Given the description of an element on the screen output the (x, y) to click on. 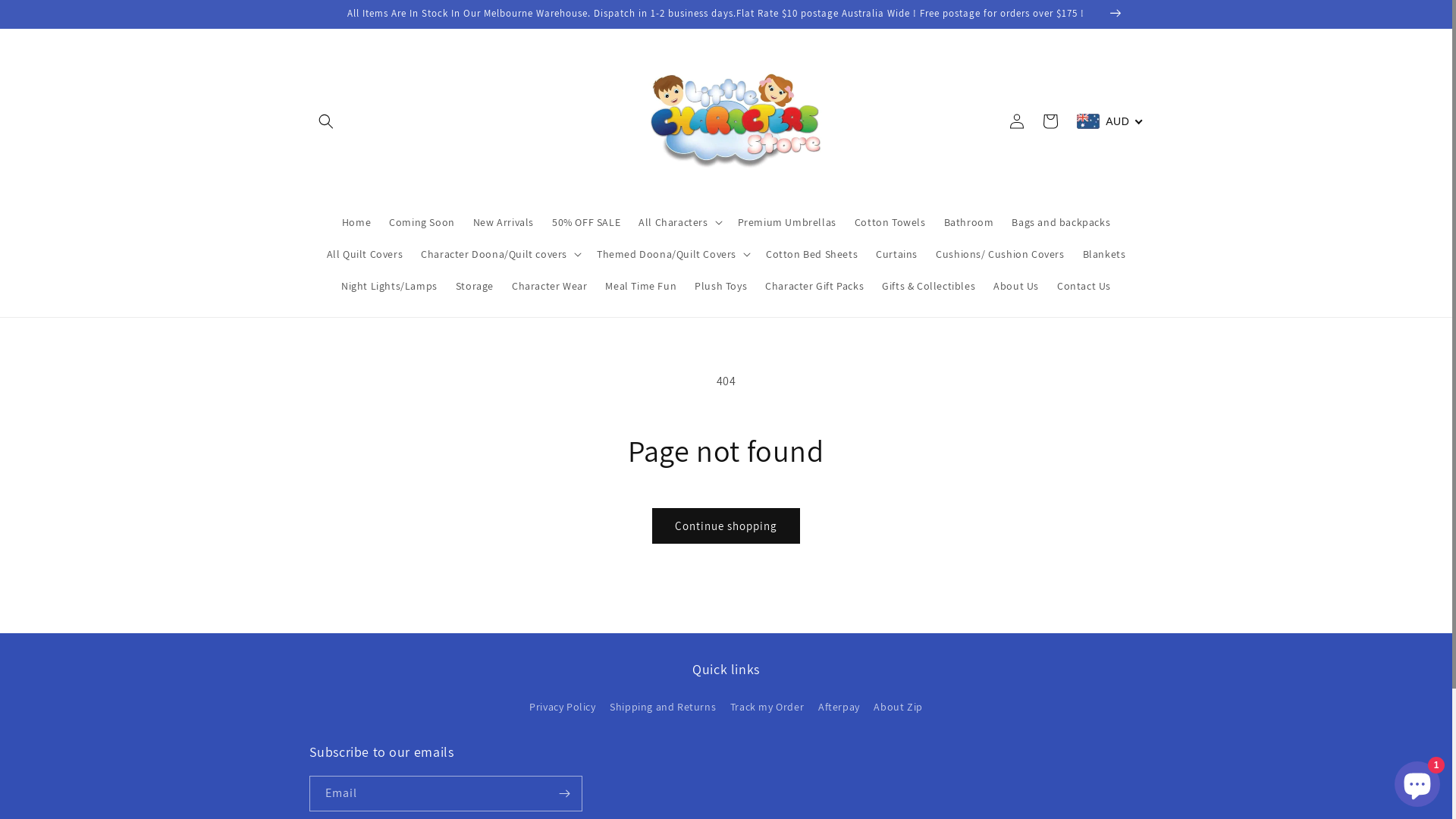
Gifts & Collectibles Element type: text (928, 285)
50% OFF SALE Element type: text (585, 222)
Cushions/ Cushion Covers Element type: text (999, 253)
Plush Toys Element type: text (720, 285)
Bathroom Element type: text (969, 222)
Home Element type: text (355, 222)
Afterpay Element type: text (838, 706)
Shipping and Returns Element type: text (662, 706)
Blankets Element type: text (1104, 253)
Cotton Towels Element type: text (890, 222)
Coming Soon Element type: text (421, 222)
Character Gift Packs Element type: text (814, 285)
Track my Order Element type: text (766, 706)
Cart Element type: text (1049, 121)
Premium Umbrellas Element type: text (786, 222)
Privacy Policy Element type: text (562, 708)
Character Wear Element type: text (549, 285)
All Quilt Covers Element type: text (364, 253)
Curtains Element type: text (896, 253)
Meal Time Fun Element type: text (640, 285)
Storage Element type: text (474, 285)
Contact Us Element type: text (1084, 285)
Cotton Bed Sheets Element type: text (811, 253)
About Zip Element type: text (897, 706)
Shopify online store chat Element type: hover (1417, 780)
Log in Element type: text (1016, 121)
About Us Element type: text (1016, 285)
Bags and backpacks Element type: text (1060, 222)
Night Lights/Lamps Element type: text (389, 285)
New Arrivals Element type: text (503, 222)
Continue shopping Element type: text (726, 525)
